Given the description of an element on the screen output the (x, y) to click on. 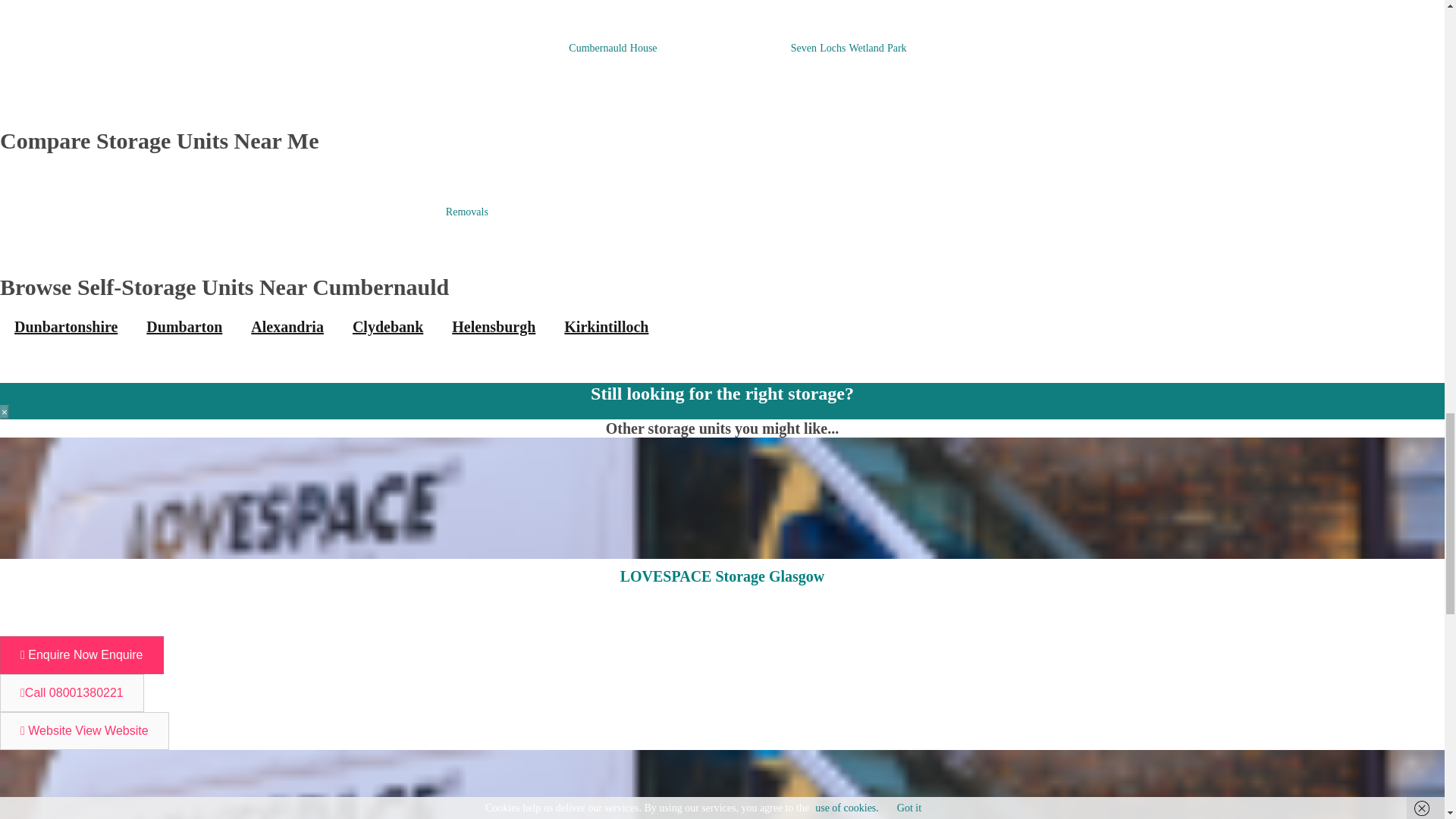
Dunbartonshire (65, 326)
Cumbernauld House (612, 48)
Removals (466, 211)
Seven Lochs Wetland Park (848, 48)
